Given the description of an element on the screen output the (x, y) to click on. 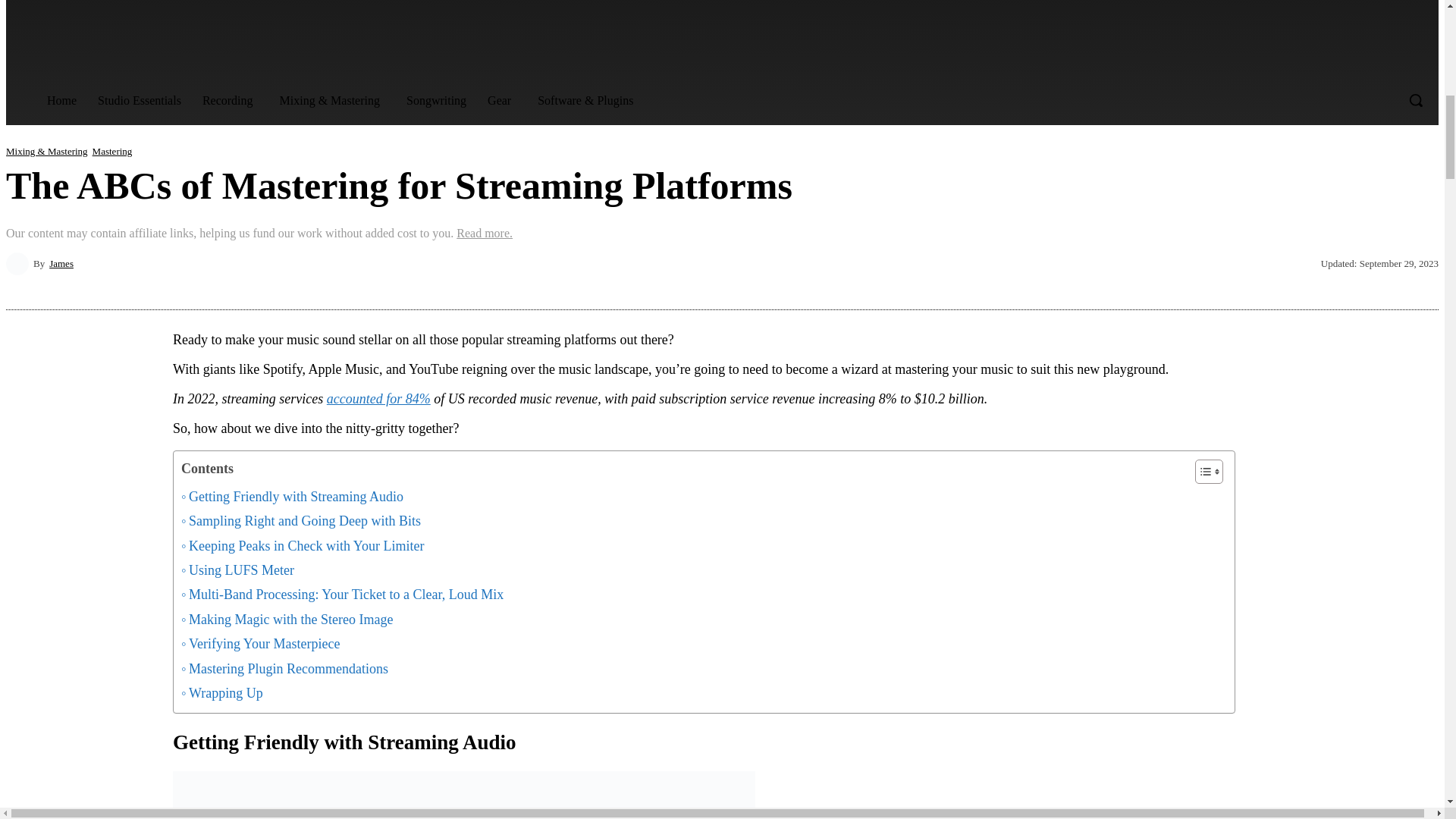
Multi-Band Processing: Your Ticket to a Clear, Loud Mix (341, 594)
Wrapping Up (221, 692)
Mastering Plugin Recommendations (284, 668)
Home (61, 99)
Keeping Peaks in Check with Your Limiter (301, 545)
Using LUFS Meter (237, 569)
James (19, 263)
Studio Essentials (139, 99)
Sampling Right and Going Deep with Bits (300, 520)
Recording (230, 100)
Verifying Your Masterpiece (259, 643)
Getting Friendly with Streaming Audio (291, 496)
Making Magic with the Stereo Image (286, 619)
